Given the description of an element on the screen output the (x, y) to click on. 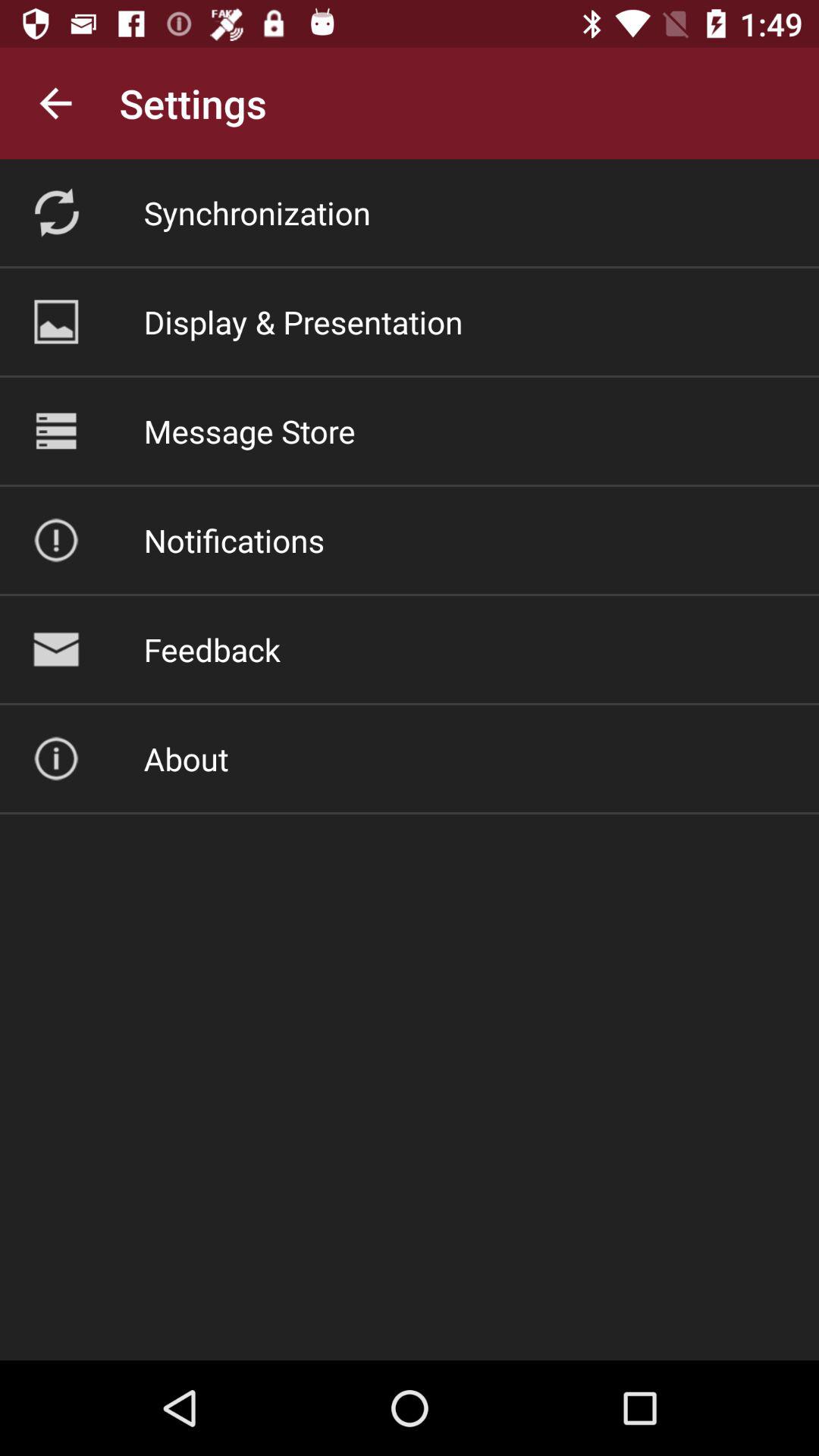
choose the item above the message store (302, 321)
